Given the description of an element on the screen output the (x, y) to click on. 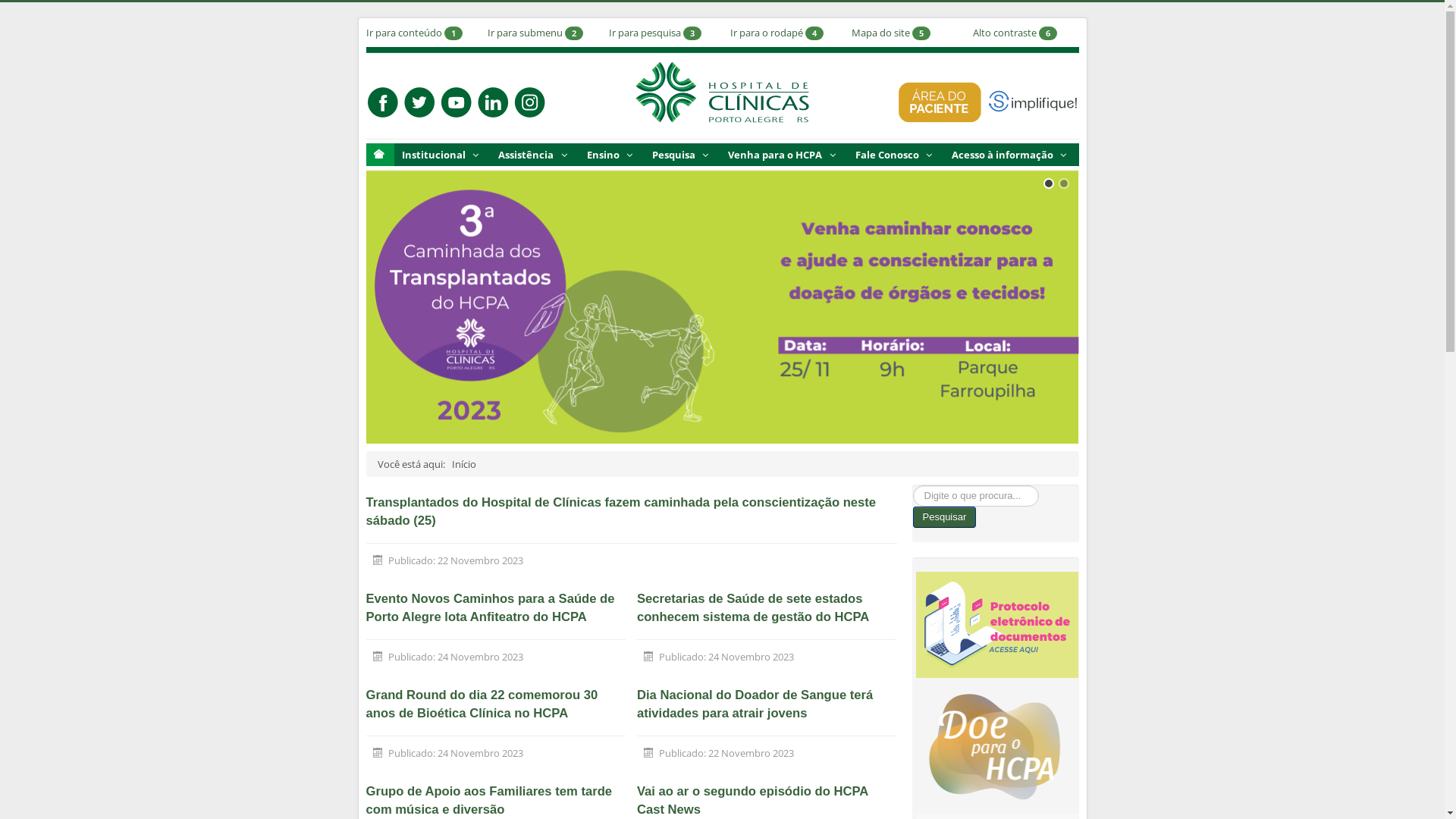
Mapa do site Element type: text (879, 32)
Pesquisa Element type: text (682, 154)
Ir para submenu Element type: text (523, 32)
Institucional Element type: text (442, 154)
Ensino Element type: text (611, 154)
Alto contraste Element type: text (1003, 32)
Venha para o HCPA Element type: text (783, 154)
Ir para pesquisa Element type: text (644, 32)
Pesquisar Element type: text (944, 516)
Fale Conosco Element type: text (895, 154)
Home Element type: hover (378, 154)
